Given the description of an element on the screen output the (x, y) to click on. 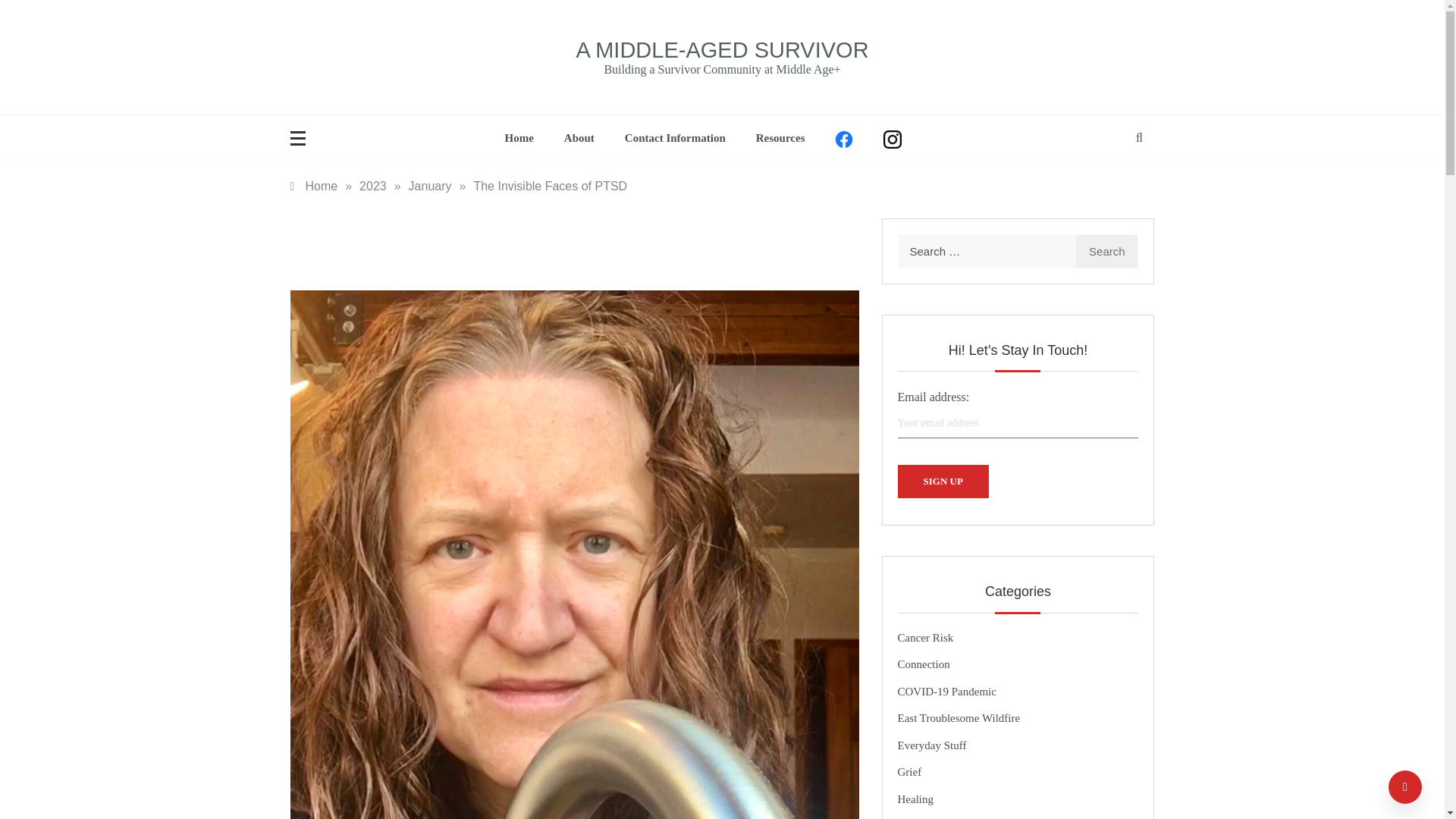
Search (1106, 251)
About (579, 137)
Contact Information (675, 137)
Search (1106, 251)
A MIDDLE-AGED SURVIVOR (721, 49)
2023 (373, 185)
Home (313, 185)
January (430, 185)
Resources (781, 137)
Go to Top (1405, 786)
